Given the description of an element on the screen output the (x, y) to click on. 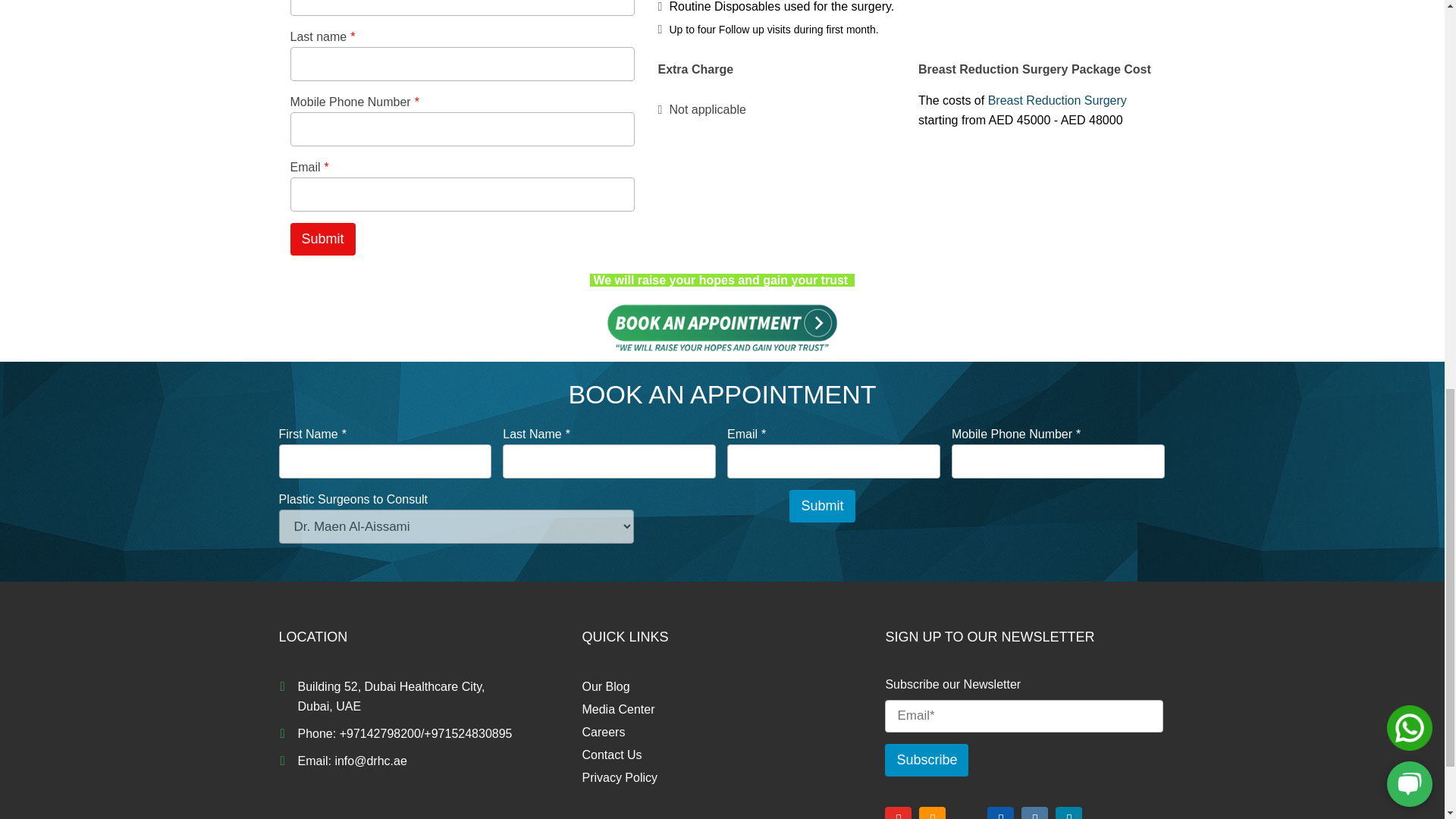
Subscribe (926, 759)
Submit (821, 505)
Submit (322, 238)
